Given the description of an element on the screen output the (x, y) to click on. 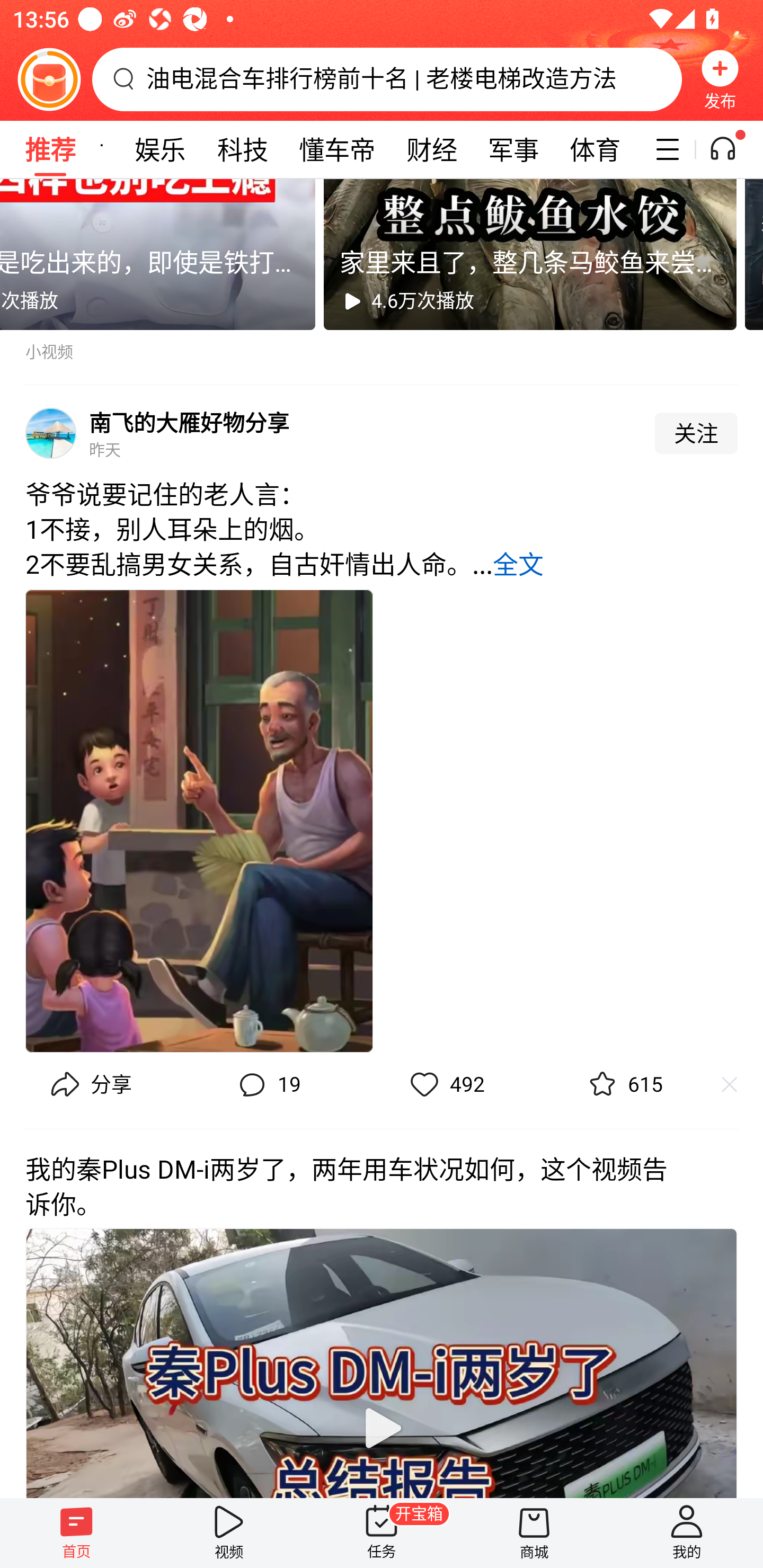
阅读赚金币 (48, 79)
油电混合车排行榜前十名 | 老楼电梯改造方法 搜索框，油电混合车排行榜前十名 | 老楼电梯改造方法 (387, 79)
发布 发布，按钮 (720, 78)
推荐 (49, 149)
娱乐 (160, 149)
科技 (242, 149)
懂车帝 (336, 149)
财经 (431, 149)
军事 (513, 149)
体育 (594, 149)
听一听开关 (732, 149)
南飞的大雁好物分享 (189, 422)
南飞的大雁好物分享头像 (50, 433)
关注 (695, 433)
分享 (88, 1084)
评论,19 19 (266, 1084)
收藏,615 615 (622, 1084)
减少此类内容推荐 (737, 1084)
播放视频 视频播放器，双击屏幕打开播放控制 (381, 1362)
播放视频 (381, 1427)
首页 (76, 1532)
视频 (228, 1532)
任务 开宝箱 (381, 1532)
商城 (533, 1532)
我的 (686, 1532)
